Given the description of an element on the screen output the (x, y) to click on. 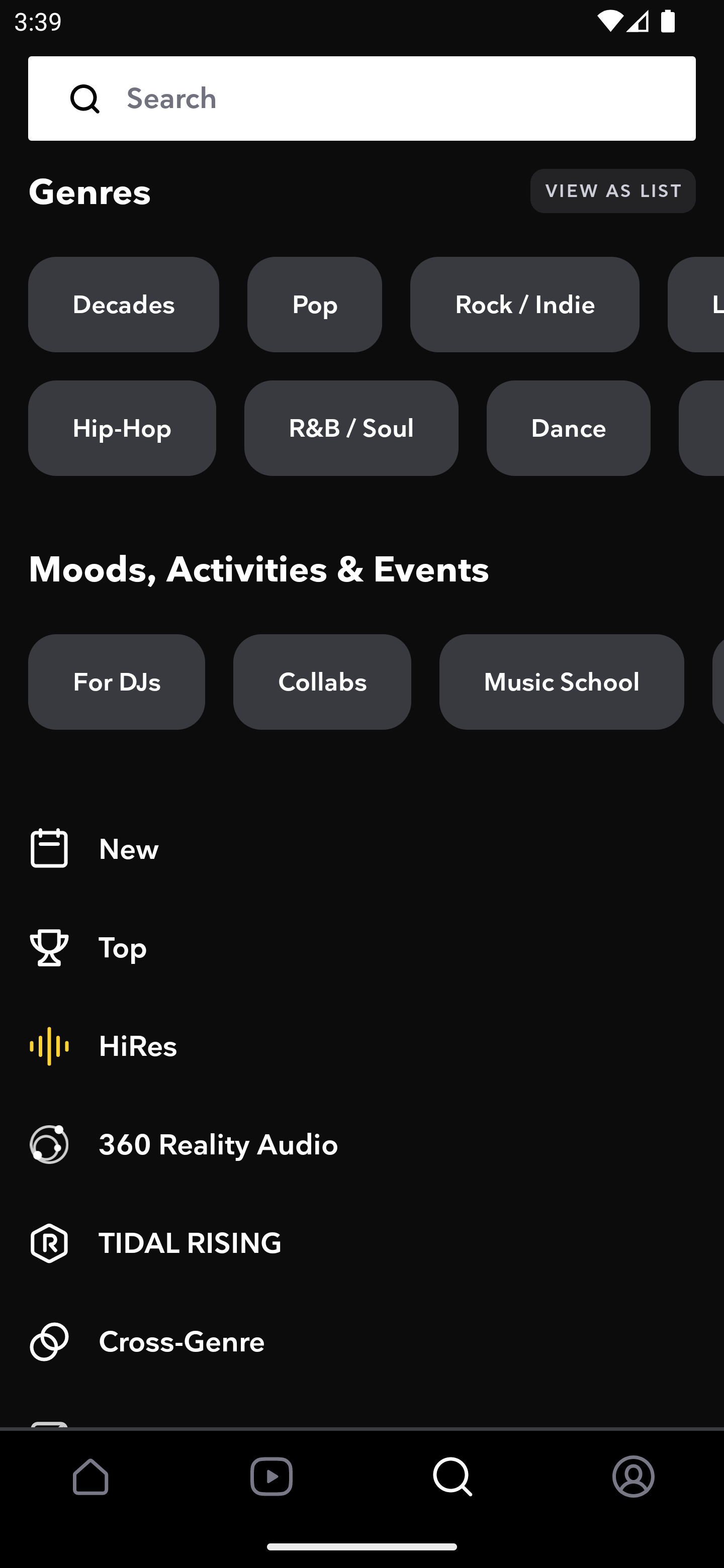
Search (397, 98)
VIEW AS LIST (612, 191)
Decades (123, 304)
Pop (314, 304)
Rock / Indie (524, 304)
Hip-Hop (122, 428)
R&B / Soul (351, 428)
Dance (568, 428)
For DJs (116, 681)
Collabs (322, 681)
Music School (561, 681)
New (362, 848)
Top (362, 947)
HiRes (362, 1046)
360 Reality Audio (362, 1145)
TIDAL RISING (362, 1243)
Cross-Genre (362, 1341)
